Given the description of an element on the screen output the (x, y) to click on. 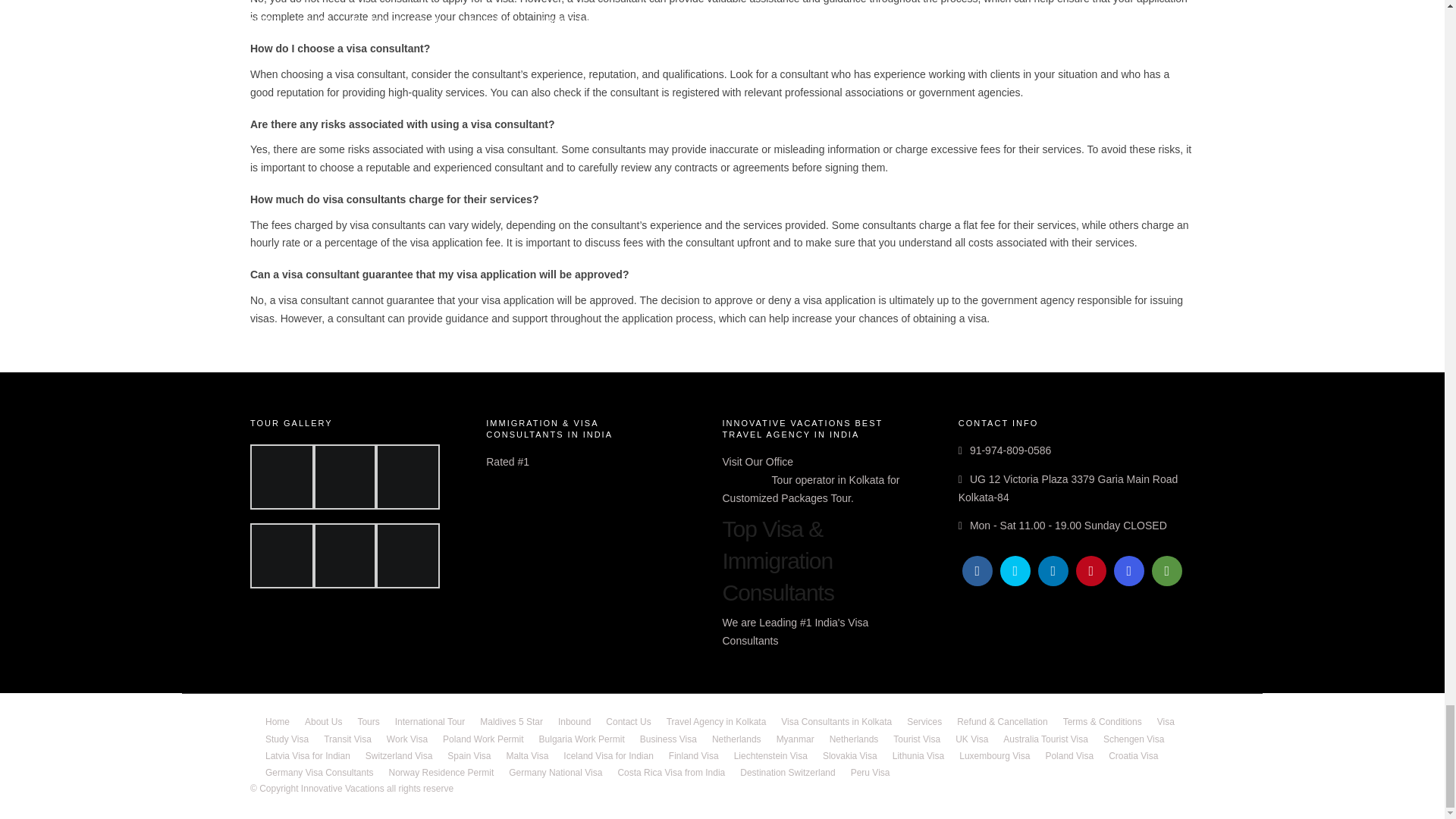
Linkedin (1053, 571)
Facebook (977, 571)
Twitter (1015, 571)
